Given the description of an element on the screen output the (x, y) to click on. 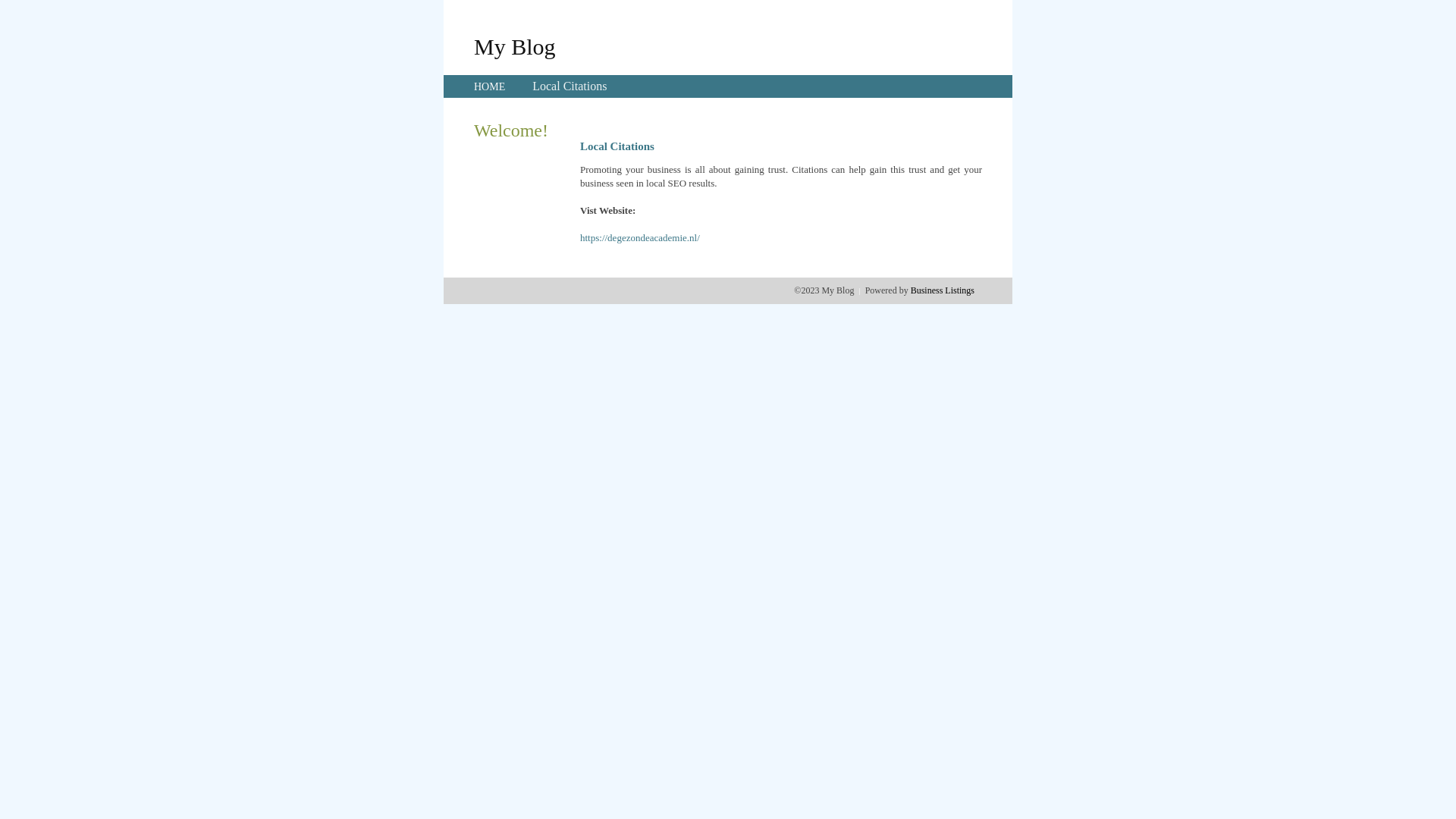
Local Citations Element type: text (569, 85)
My Blog Element type: text (514, 46)
Business Listings Element type: text (942, 290)
https://degezondeacademie.nl/ Element type: text (639, 237)
HOME Element type: text (489, 86)
